Given the description of an element on the screen output the (x, y) to click on. 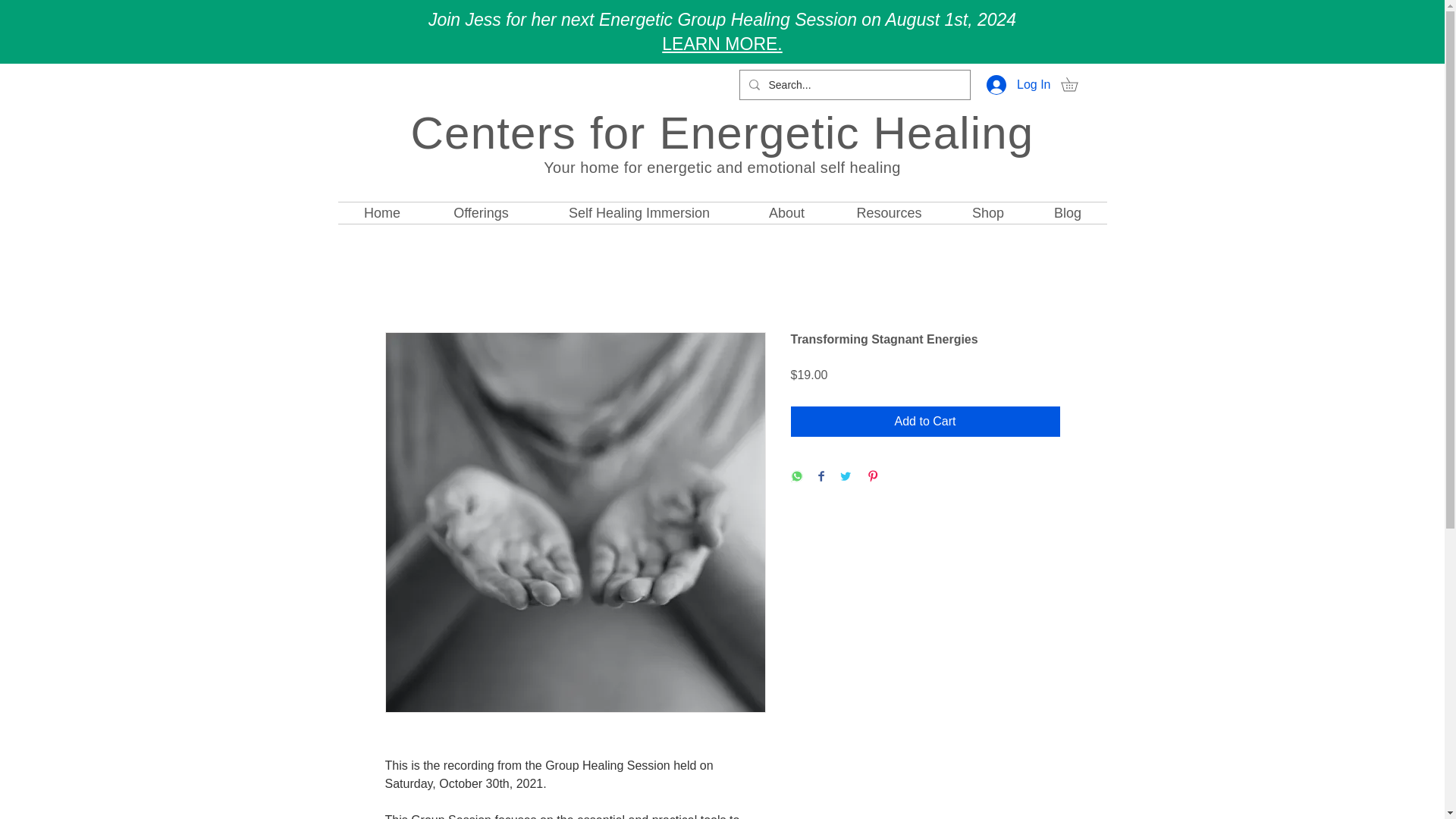
Self Healing Immersion (638, 212)
Blog (1066, 212)
LEARN MORE. (721, 44)
Home (381, 212)
Log In (1018, 84)
rs for Energetic Healing (785, 132)
Add to Cart (924, 421)
Cente (473, 132)
